Given the description of an element on the screen output the (x, y) to click on. 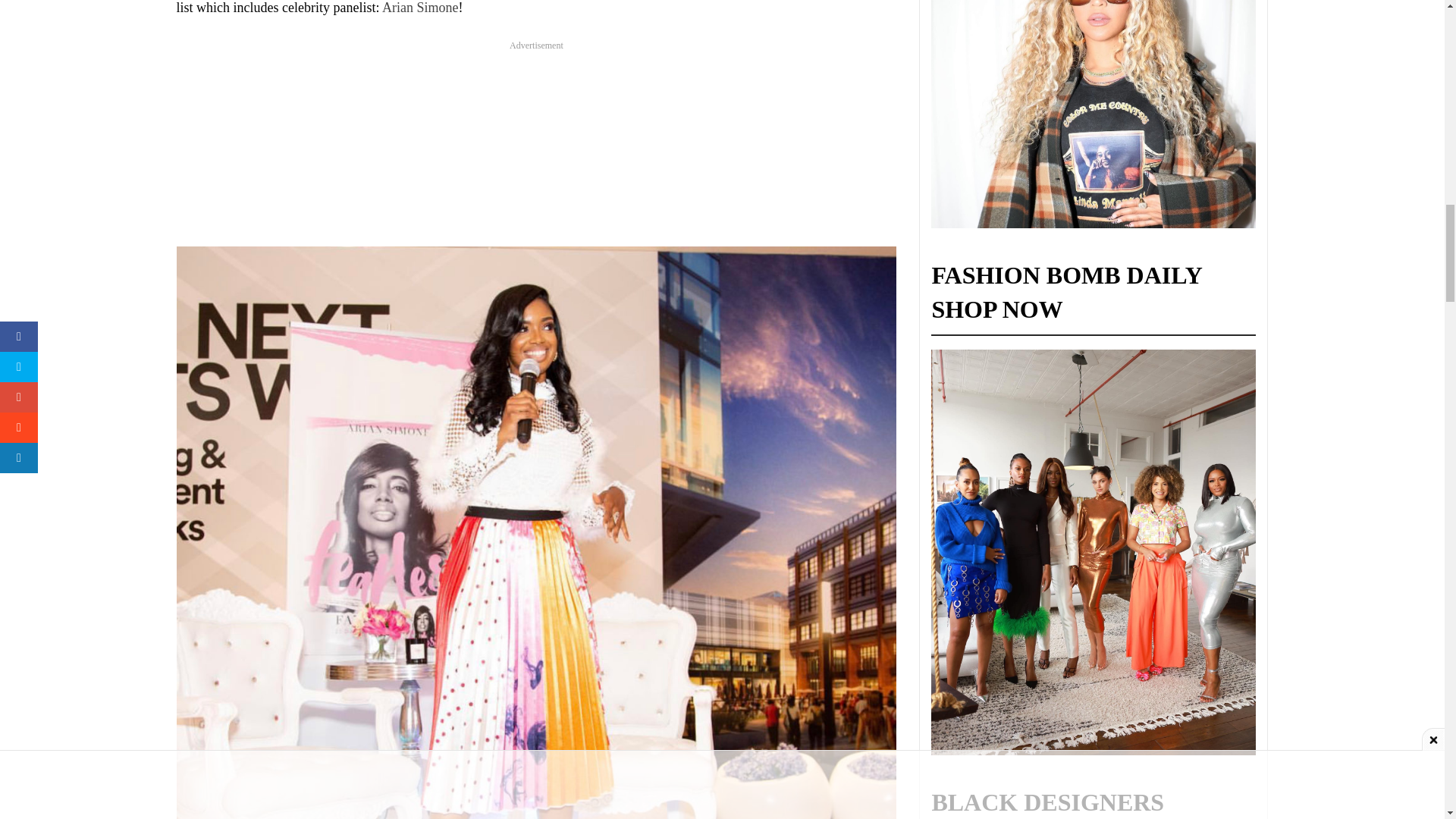
3rd party ad content (535, 145)
